Given the description of an element on the screen output the (x, y) to click on. 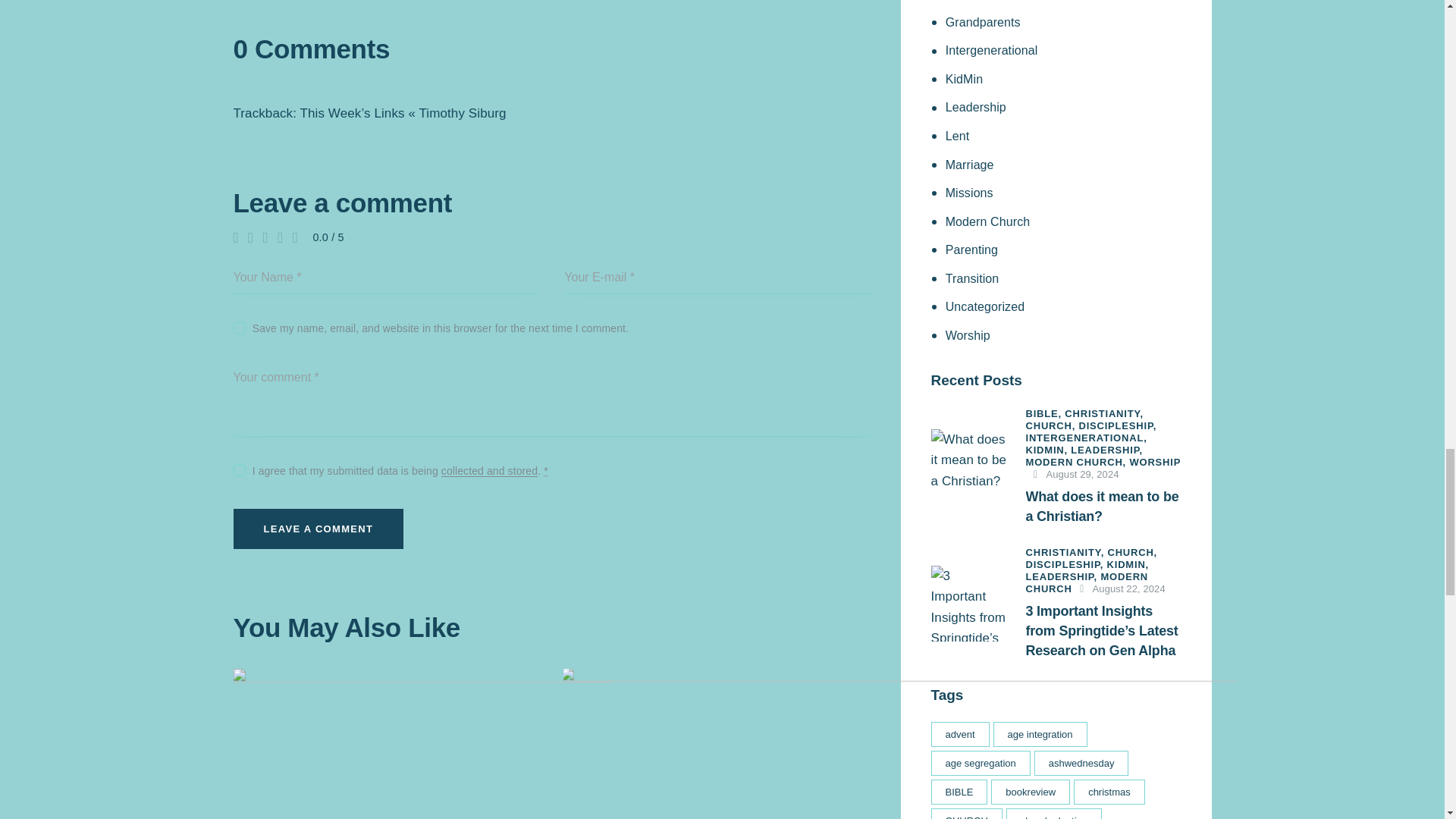
Leave a comment (318, 528)
1 (237, 467)
yes (237, 325)
